Given the description of an element on the screen output the (x, y) to click on. 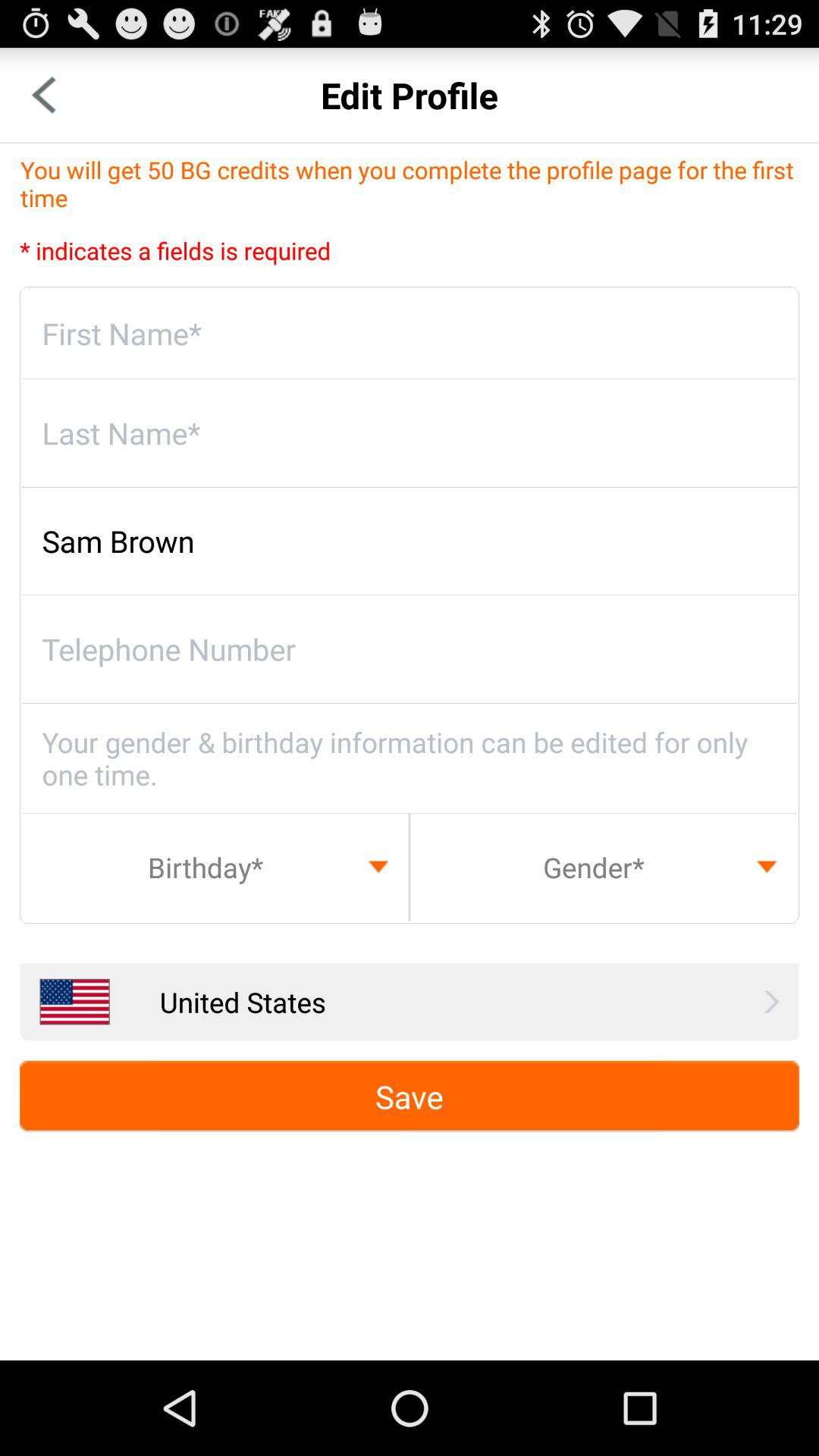
dropdown gender selection (603, 867)
